Given the description of an element on the screen output the (x, y) to click on. 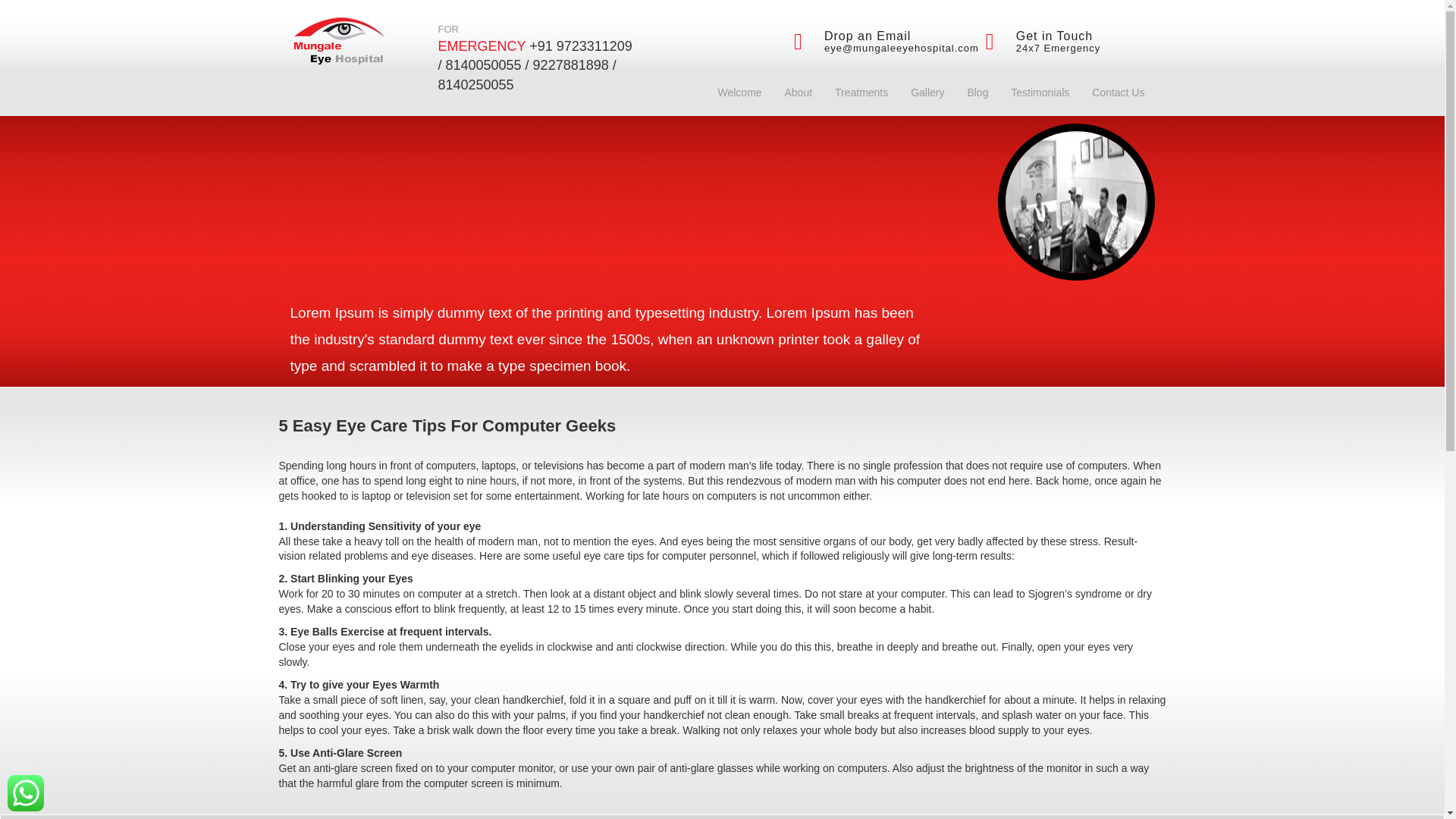
Testimonials (1039, 92)
24x7 Emergency (1058, 48)
Blog (976, 92)
Contact Us (1117, 92)
Welcome (739, 92)
About (798, 92)
Gallery (927, 92)
Treatments (861, 92)
